Given the description of an element on the screen output the (x, y) to click on. 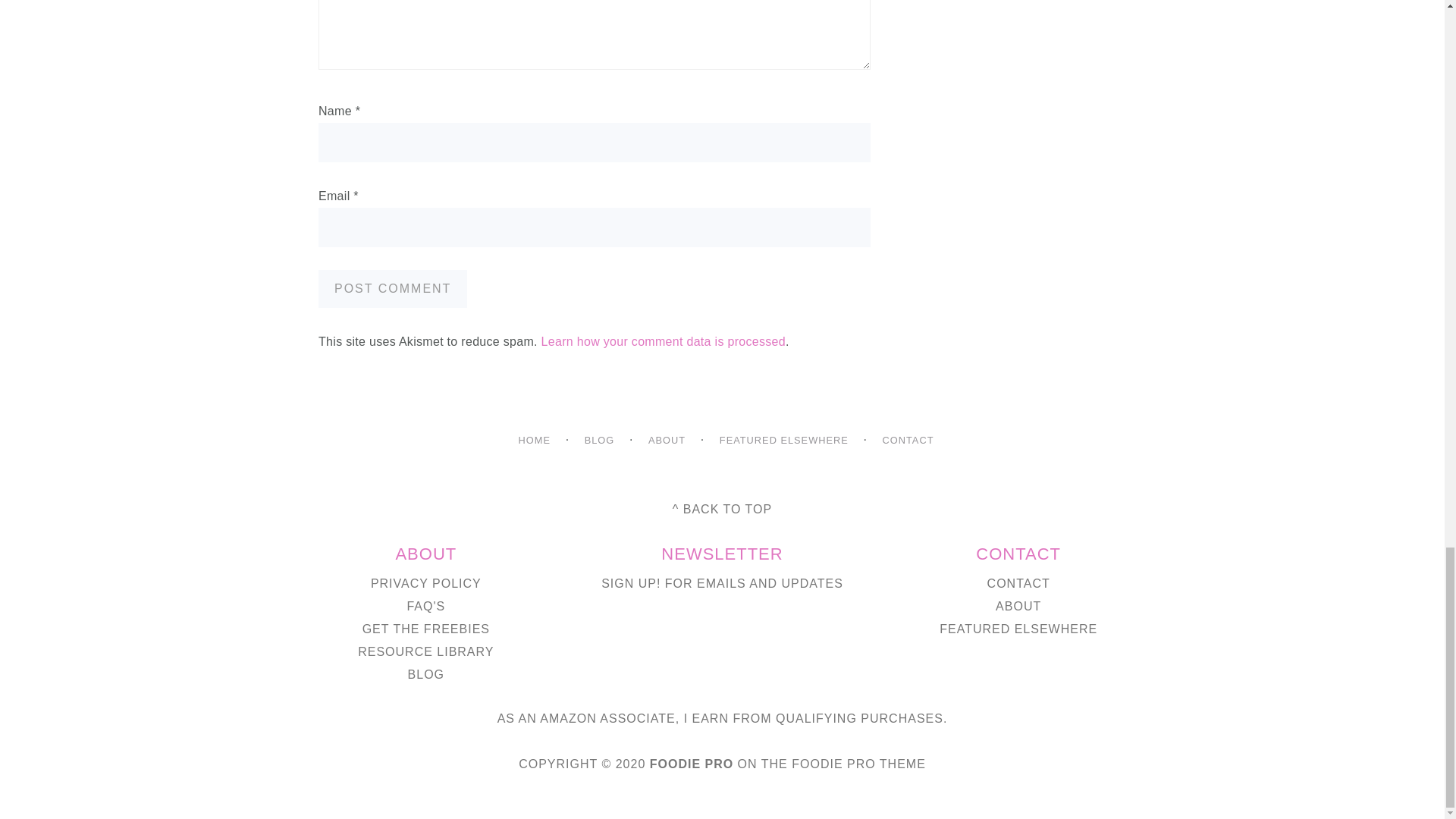
Post Comment (392, 288)
